Given the description of an element on the screen output the (x, y) to click on. 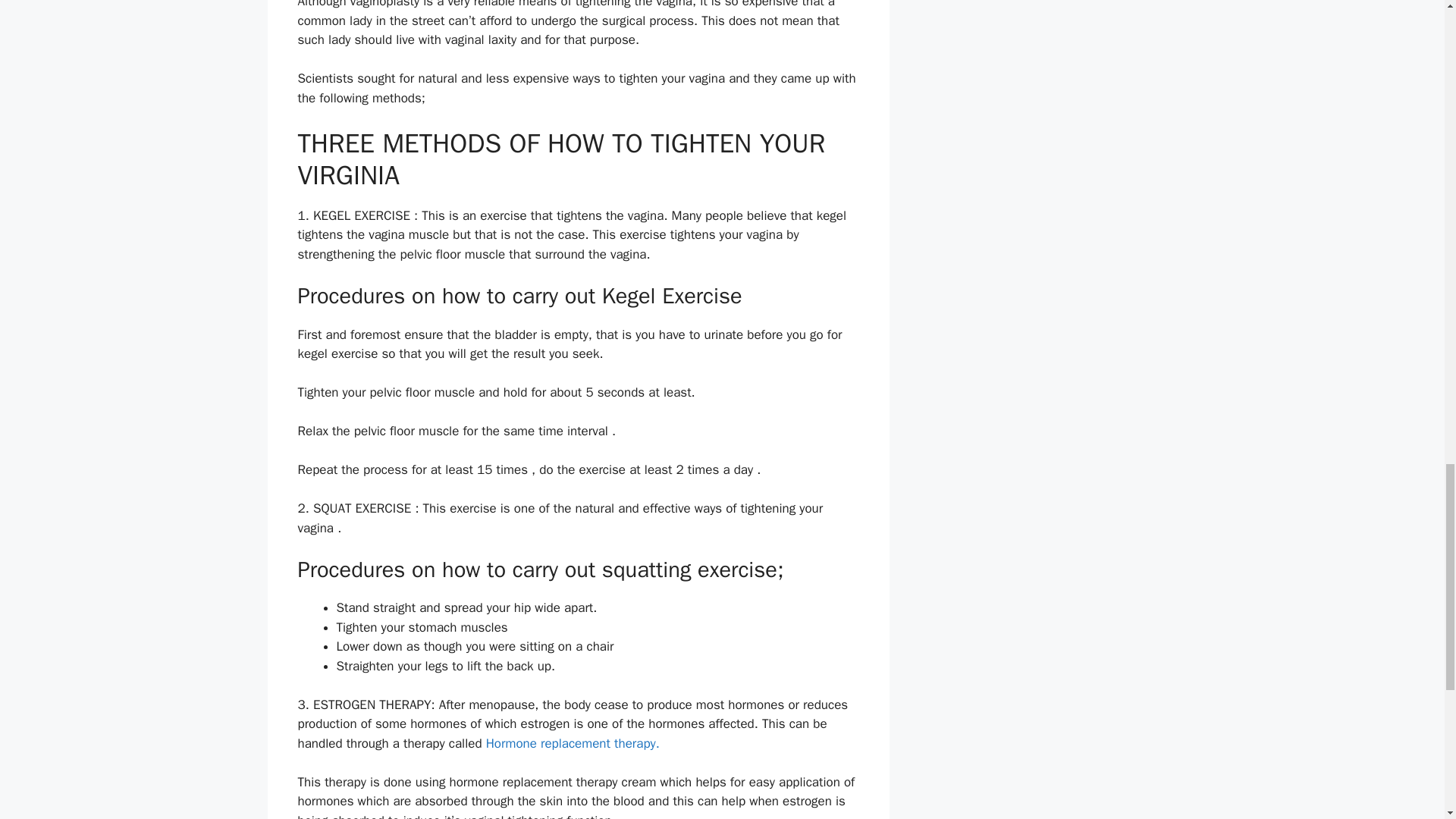
Hormone replacement therapy. (572, 743)
